Given the description of an element on the screen output the (x, y) to click on. 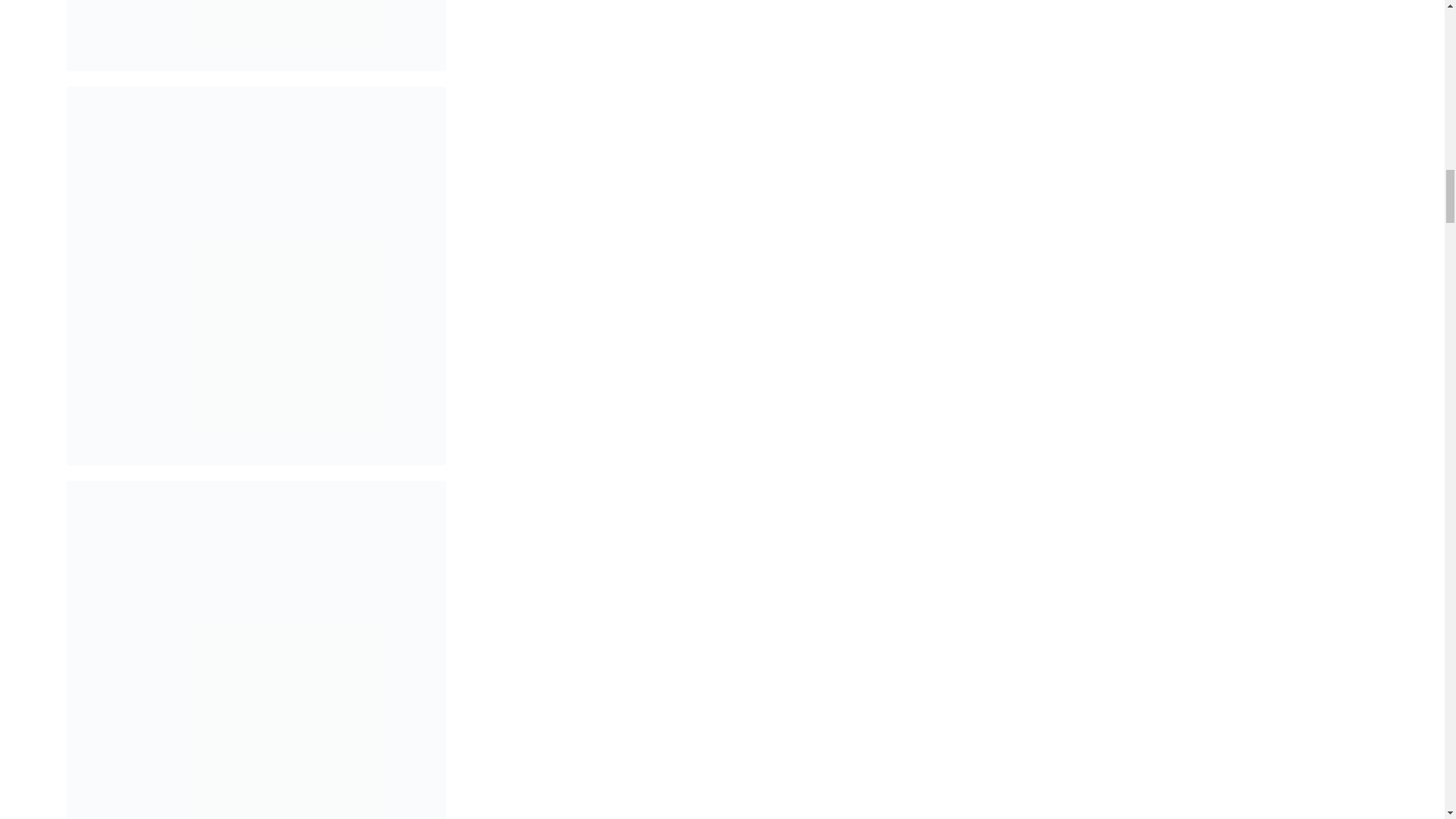
The Mayfair Dress code (255, 35)
The Mayfair Dress code (255, 649)
